Given the description of an element on the screen output the (x, y) to click on. 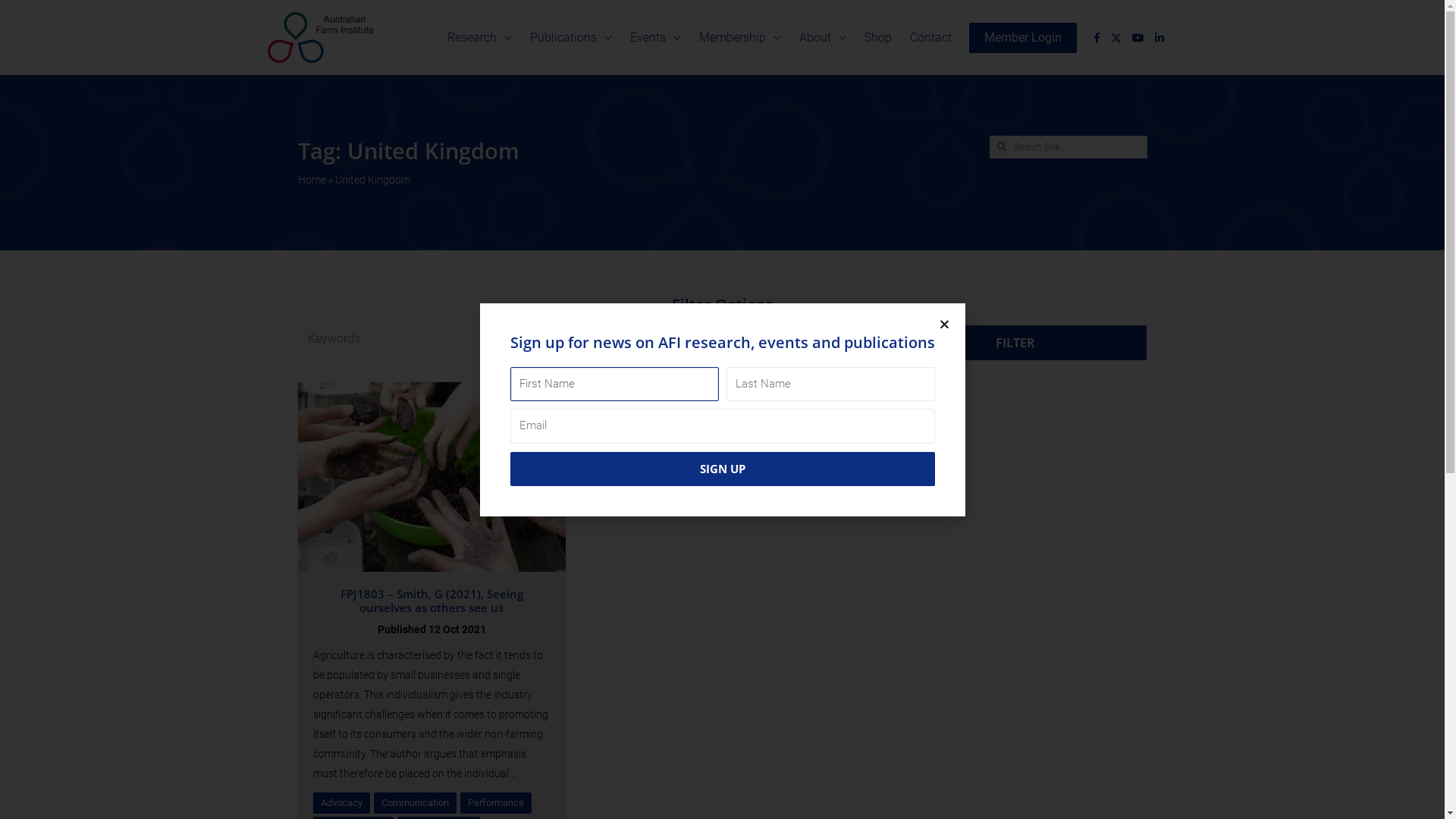
Publications Element type: text (570, 37)
Shop Element type: text (877, 37)
Research Element type: text (479, 37)
Contact Element type: text (930, 37)
About Element type: text (822, 37)
FILTER Element type: text (1015, 342)
Events Element type: text (654, 37)
SIGN UP Element type: text (721, 468)
Member Login Element type: text (1022, 37)
Performance Element type: text (494, 802)
Membership Element type: text (740, 37)
Communication Element type: text (414, 802)
Home Element type: text (311, 179)
Advocacy Element type: text (340, 802)
